Given the description of an element on the screen output the (x, y) to click on. 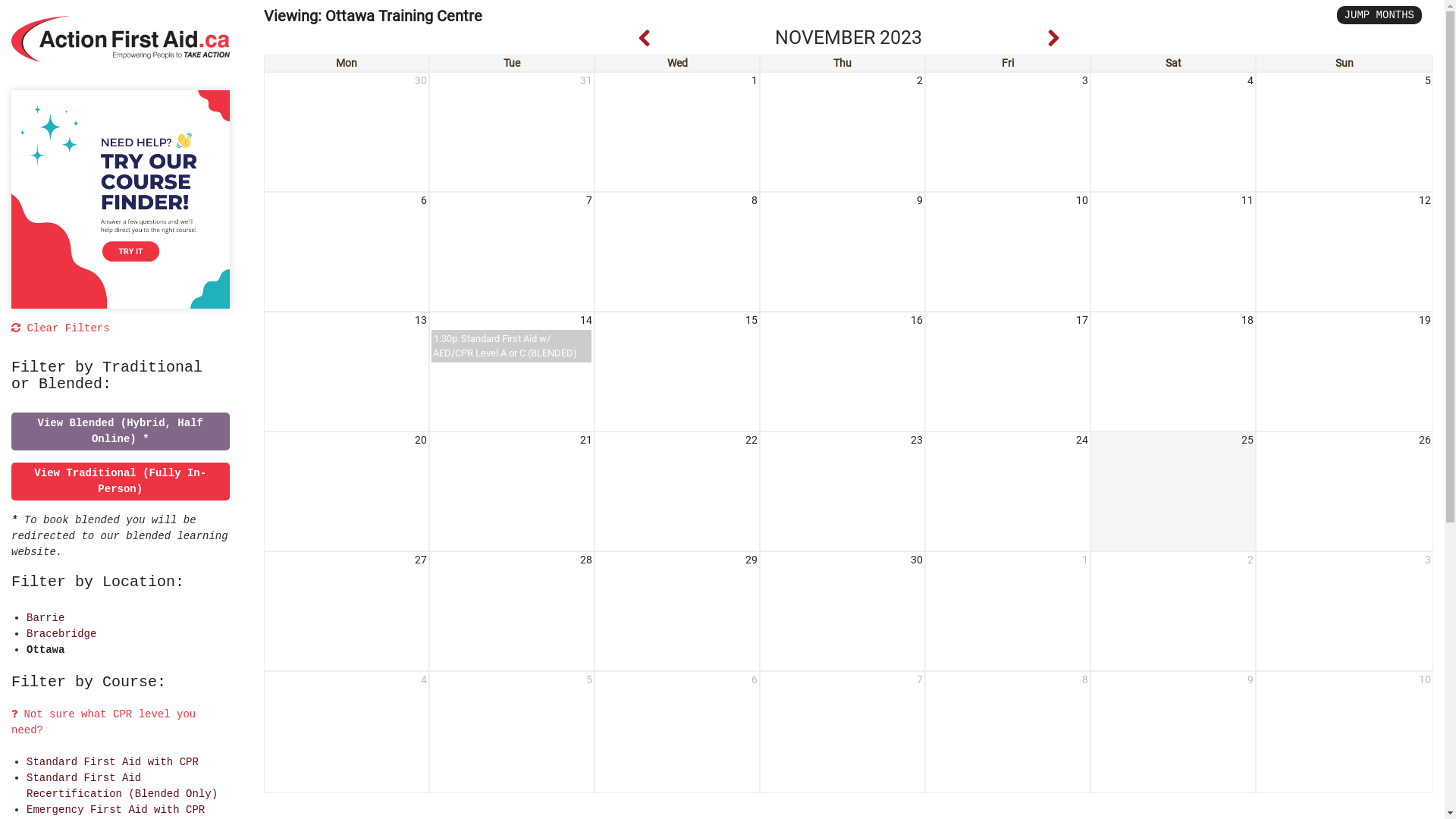
Ottawa Element type: text (45, 649)
Standard First Aid with CPR Element type: text (112, 762)
View Blended (Hybrid, Half Online) * Element type: text (120, 431)
Clear Filters Element type: text (60, 328)
Bracebridge Element type: text (61, 633)
Standard First Aid Recertification (Blended Only) Element type: text (121, 785)
Barrie Element type: text (45, 617)
View Traditional (Fully In-Person) Element type: text (120, 481)
JUMP MONTHS Element type: text (1378, 15)
Not sure what CPR level you need? Element type: text (103, 730)
Emergency First Aid with CPR Element type: text (115, 809)
